Given the description of an element on the screen output the (x, y) to click on. 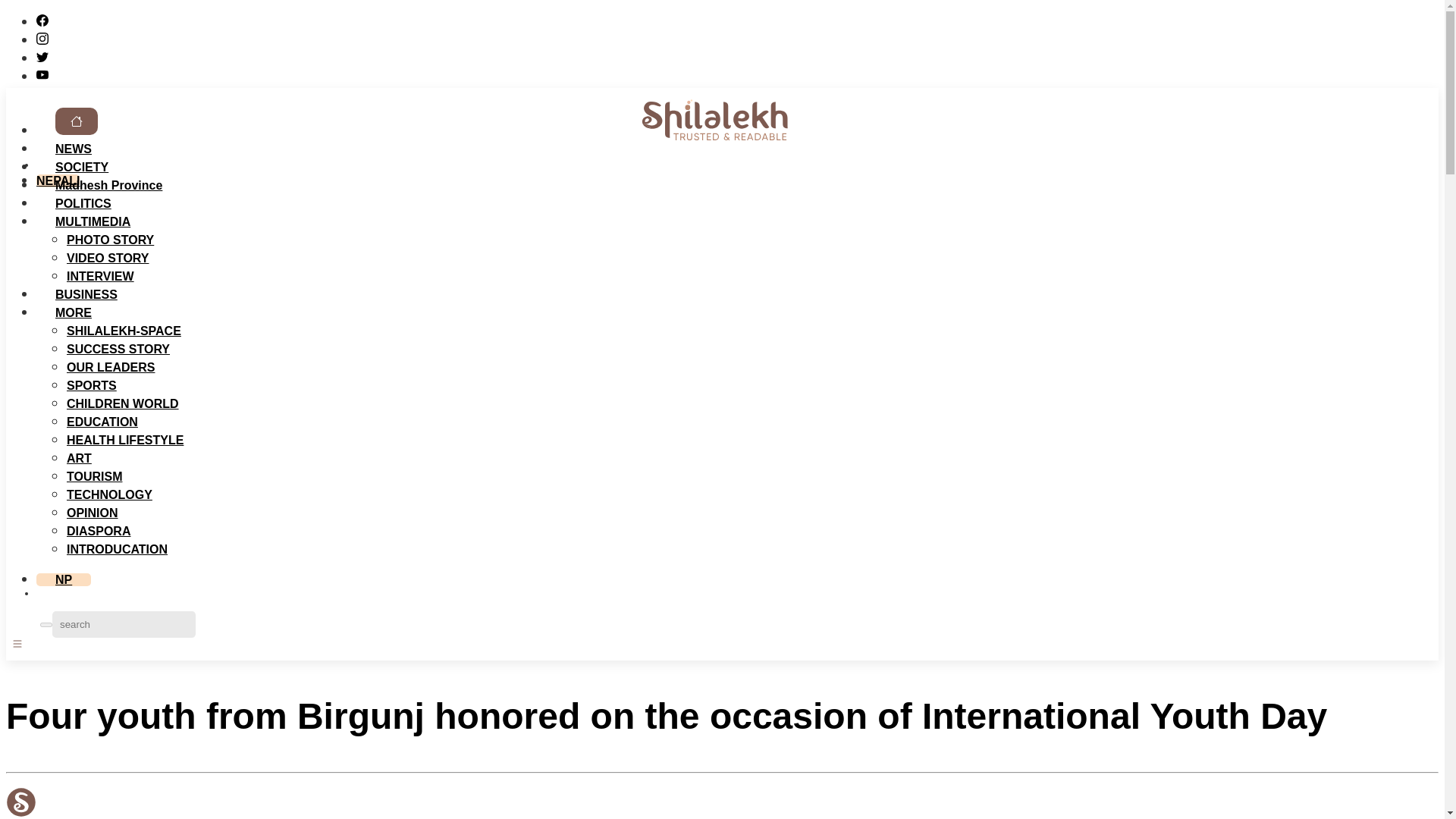
OPINION (91, 512)
TOURISM (94, 476)
DIASPORA (98, 530)
PHOTO STORY (110, 239)
MORE (73, 312)
SUCCESS STORY (118, 349)
POLITICS (83, 203)
SHILALEKH-SPACE (123, 330)
EDUCATION (102, 421)
CHILDREN WORLD (122, 403)
VIDEO STORY (107, 257)
MULTIMEDIA (92, 221)
ART (78, 458)
HEALTH LIFESTYLE (124, 440)
NEPALI (58, 180)
